Given the description of an element on the screen output the (x, y) to click on. 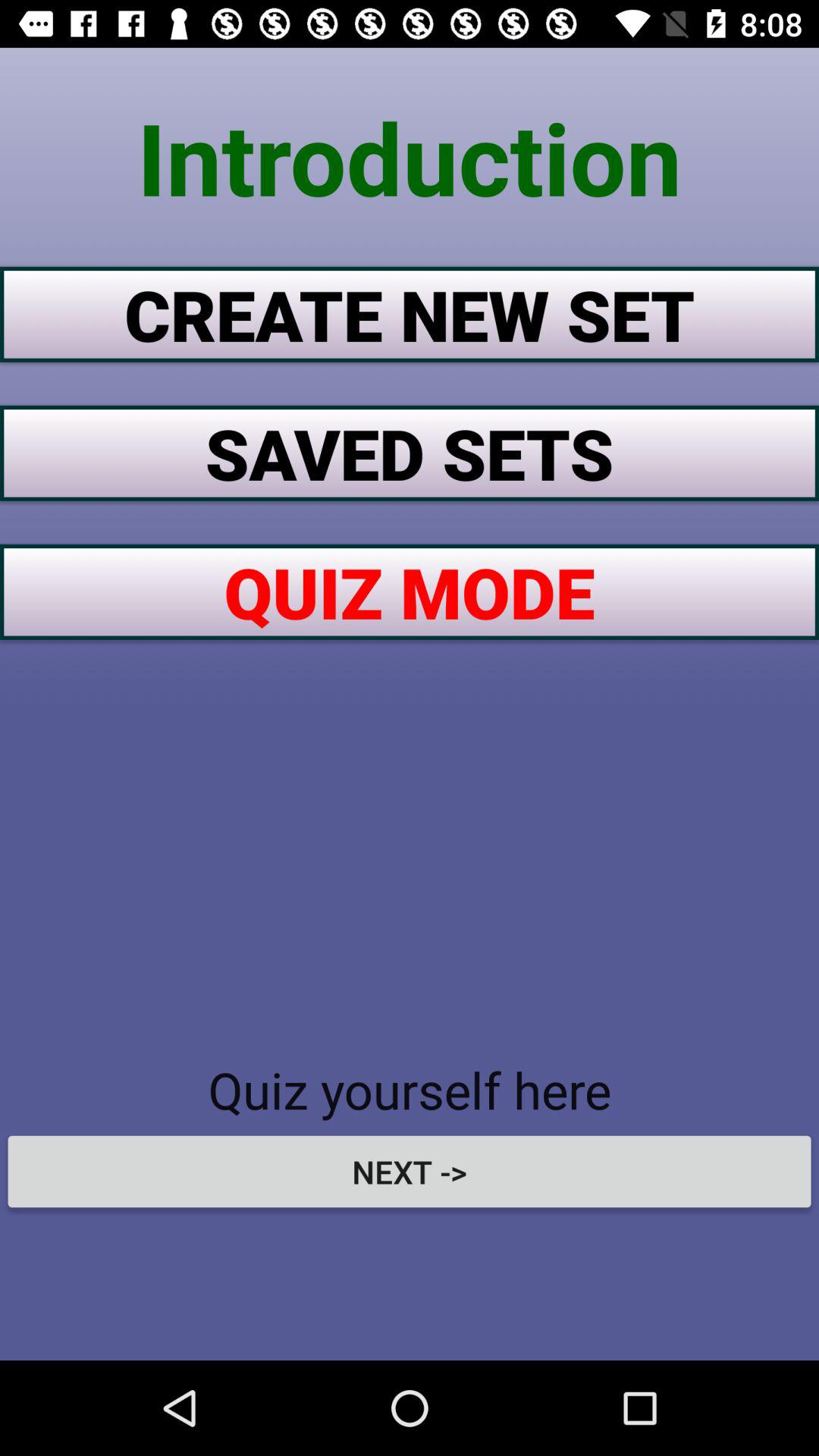
jump until next -> item (409, 1171)
